Given the description of an element on the screen output the (x, y) to click on. 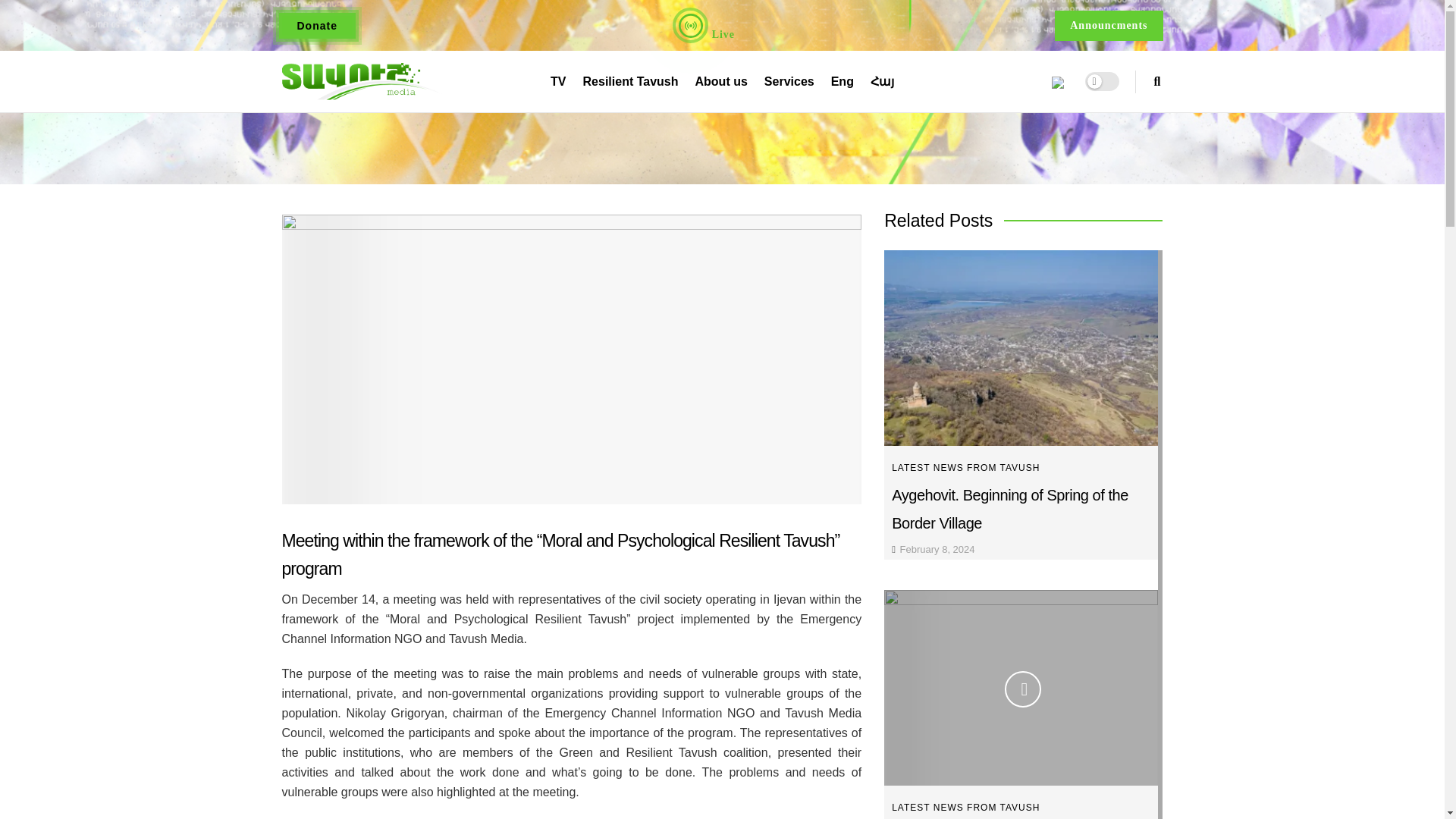
Donate (317, 25)
Resilient Tavush (630, 81)
Live (703, 25)
Announcments (1107, 25)
